Given the description of an element on the screen output the (x, y) to click on. 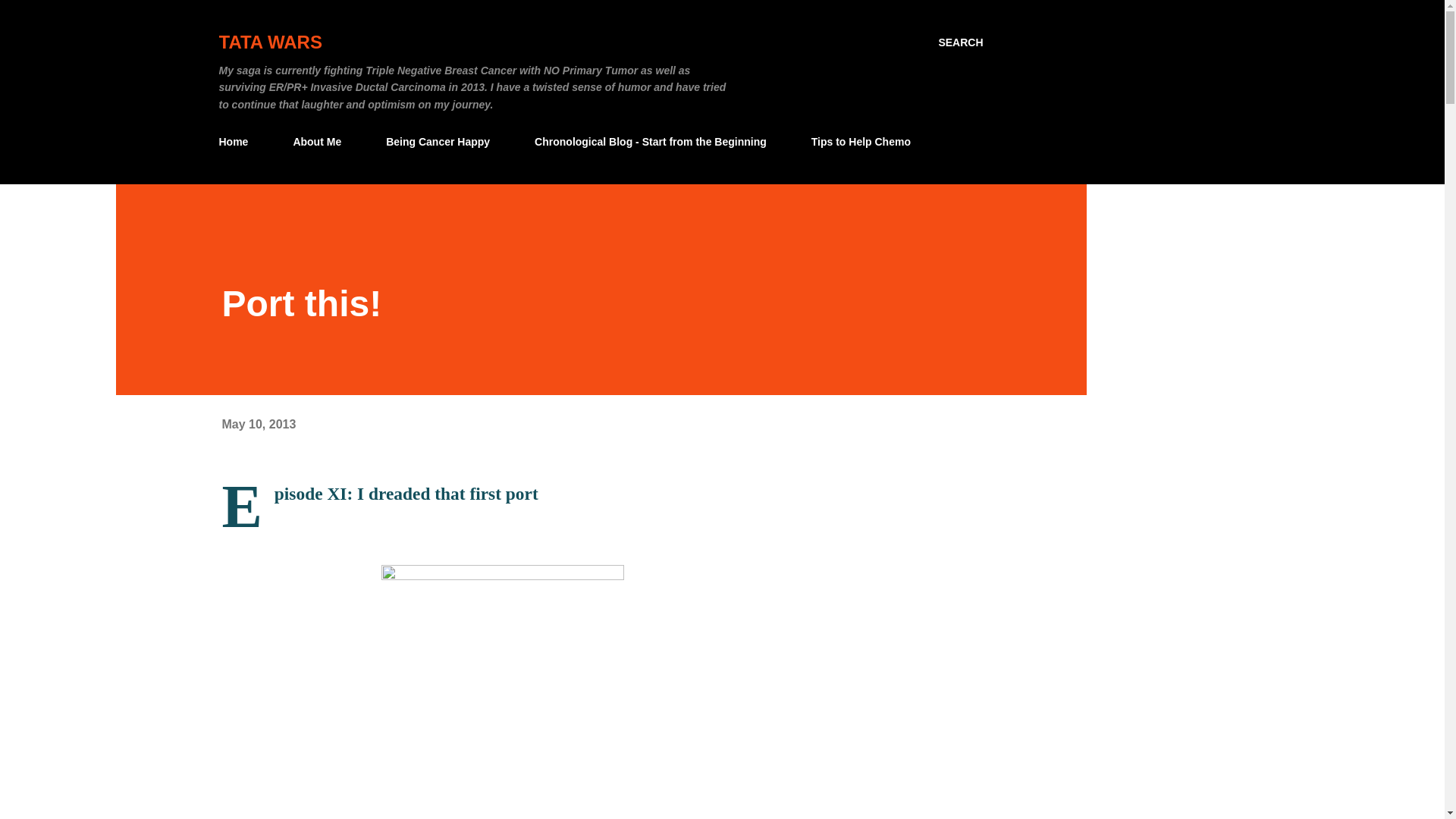
Tips to Help Chemo (861, 141)
SEARCH (959, 42)
Home (237, 141)
About Me (316, 141)
May 10, 2013 (258, 423)
permanent link (258, 423)
Being Cancer Happy (438, 141)
TATA WARS (269, 41)
Chronological Blog - Start from the Beginning (650, 141)
